Given the description of an element on the screen output the (x, y) to click on. 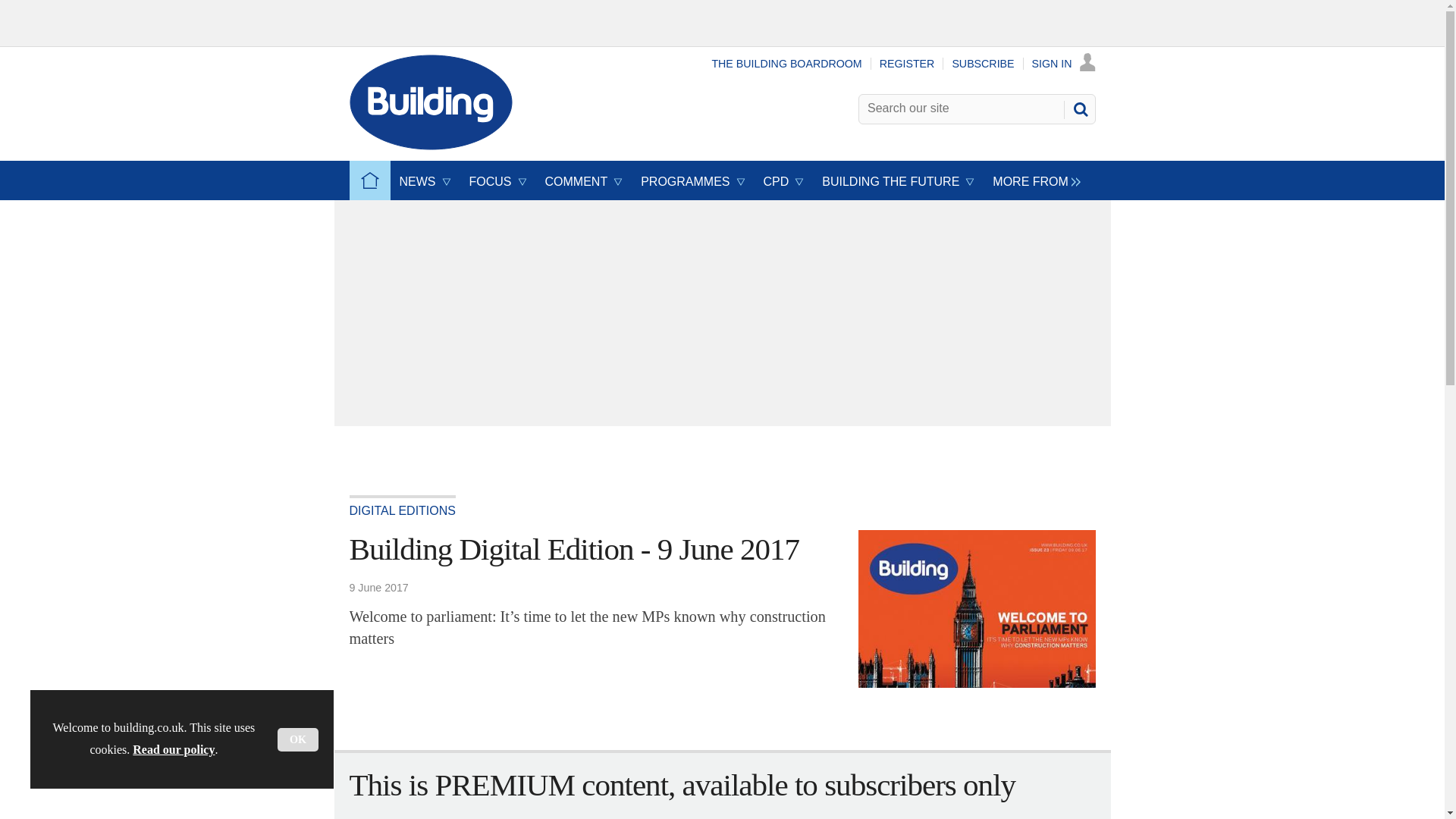
SIGN IN (1064, 63)
THE BUILDING BOARDROOM (786, 63)
Insert Logo text (430, 145)
OK (298, 739)
Read our policy (173, 748)
REGISTER (906, 63)
SEARCH (1079, 109)
SUBSCRIBE (982, 63)
